Given the description of an element on the screen output the (x, y) to click on. 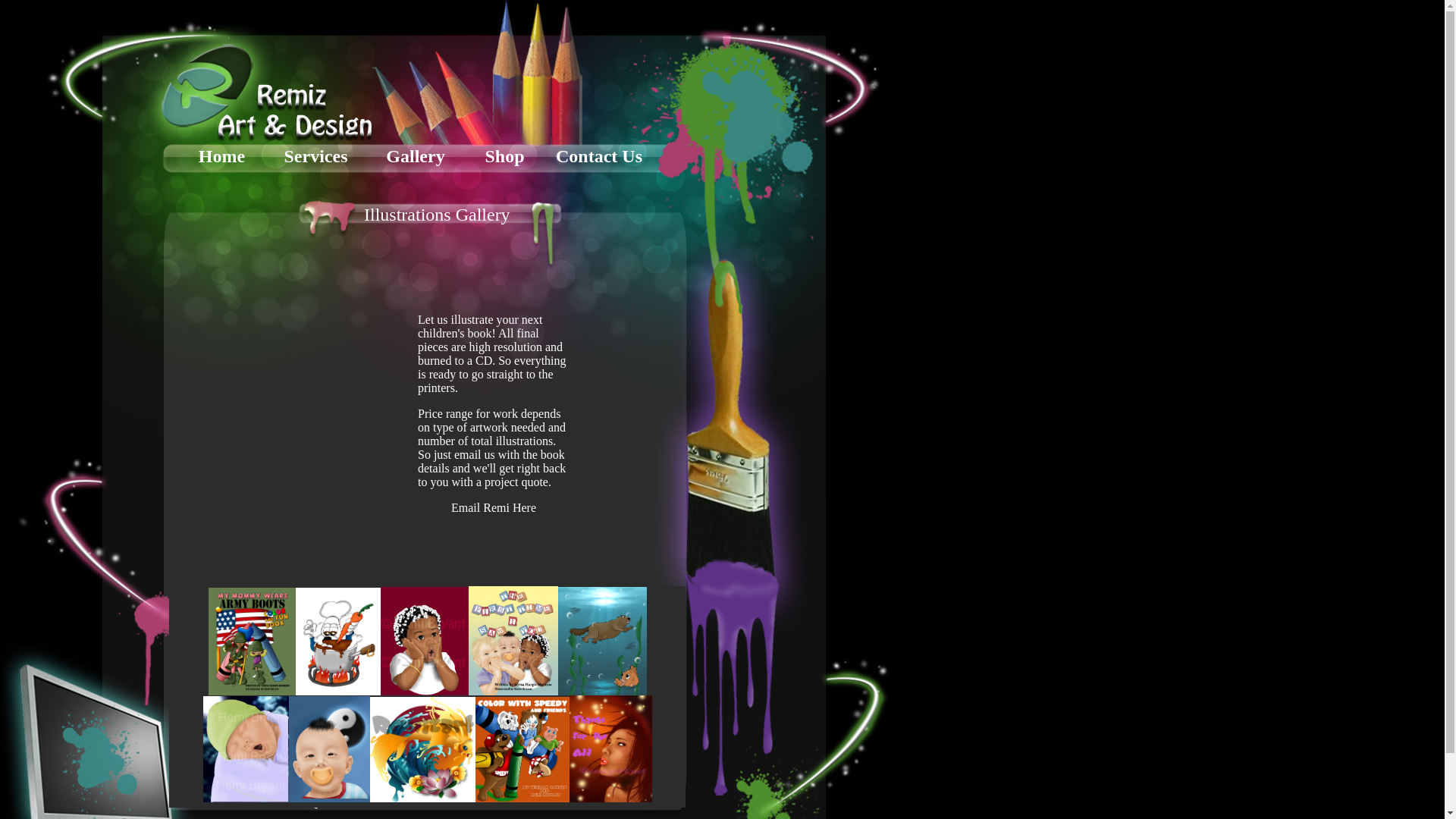
Contact Us (599, 156)
Email Remi Here (493, 507)
Services (315, 156)
Shop (504, 156)
Gallery (414, 156)
Home (221, 156)
